Given the description of an element on the screen output the (x, y) to click on. 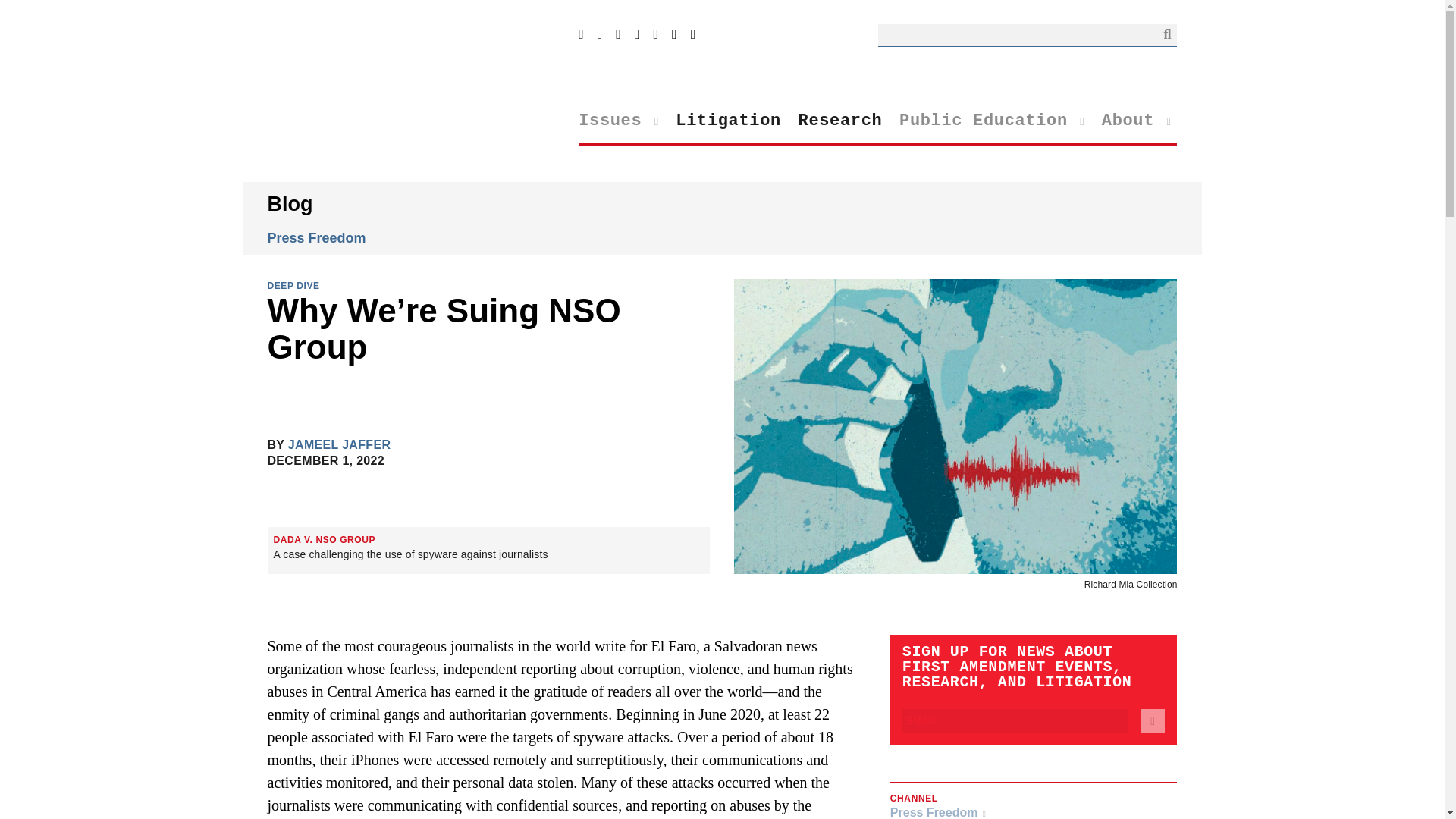
Issues (618, 120)
DADA V. NSO GROUP (324, 540)
Press Freedom (315, 237)
Research (839, 120)
JAMEEL JAFFER (339, 445)
Blog (289, 203)
About (1137, 120)
Litigation (727, 120)
DEEP DIVE (292, 285)
Public Education (991, 120)
